Given the description of an element on the screen output the (x, y) to click on. 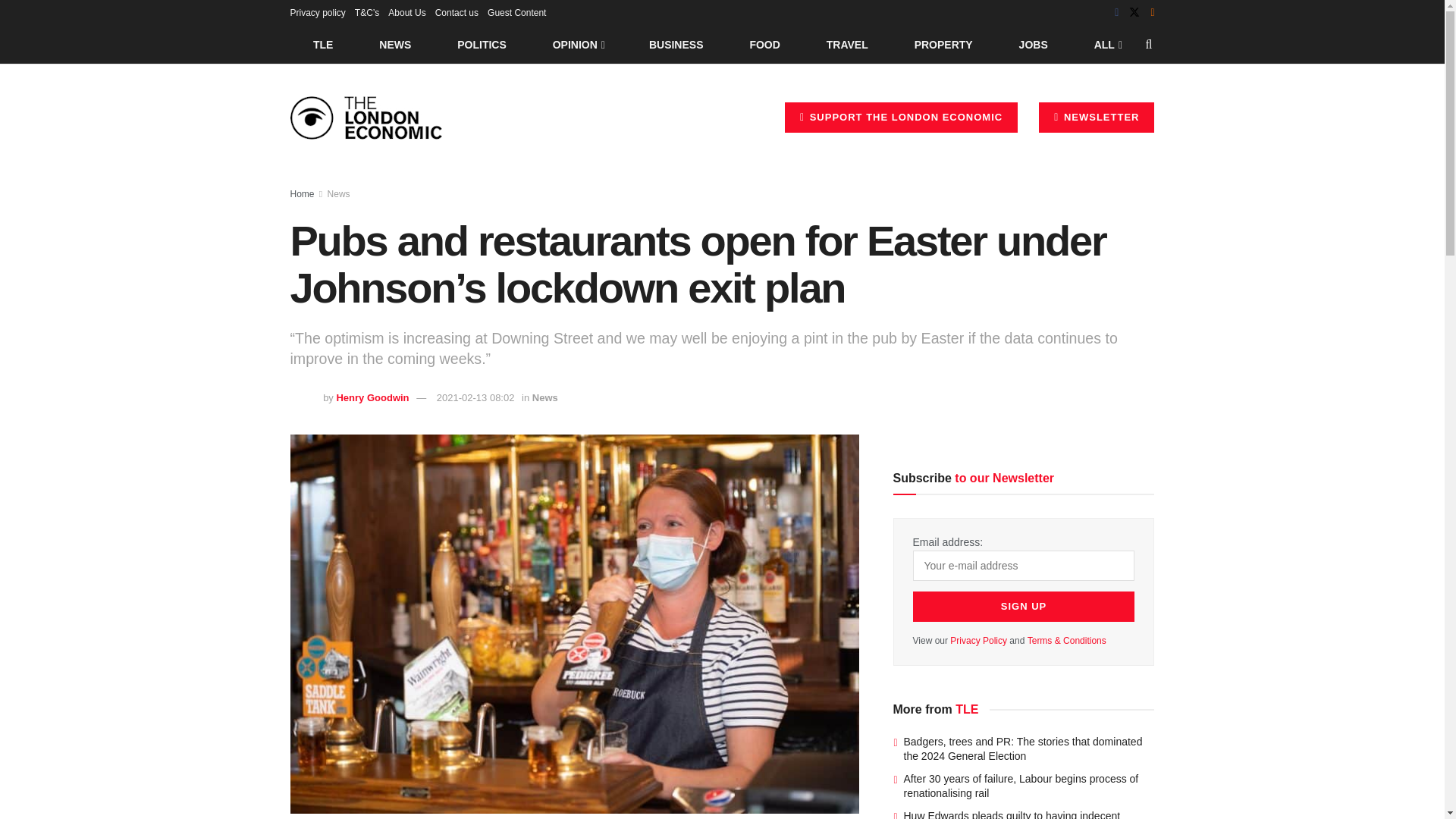
NEWSLETTER (1096, 117)
Guest Content (516, 12)
NEWS (394, 44)
POLITICS (481, 44)
SUPPORT THE LONDON ECONOMIC (900, 117)
TRAVEL (847, 44)
JOBS (1032, 44)
Home (301, 194)
ALL (1106, 44)
Contact us (457, 12)
OPINION (577, 44)
Privacy policy (317, 12)
Sign up (1023, 606)
FOOD (764, 44)
TLE (322, 44)
